Given the description of an element on the screen output the (x, y) to click on. 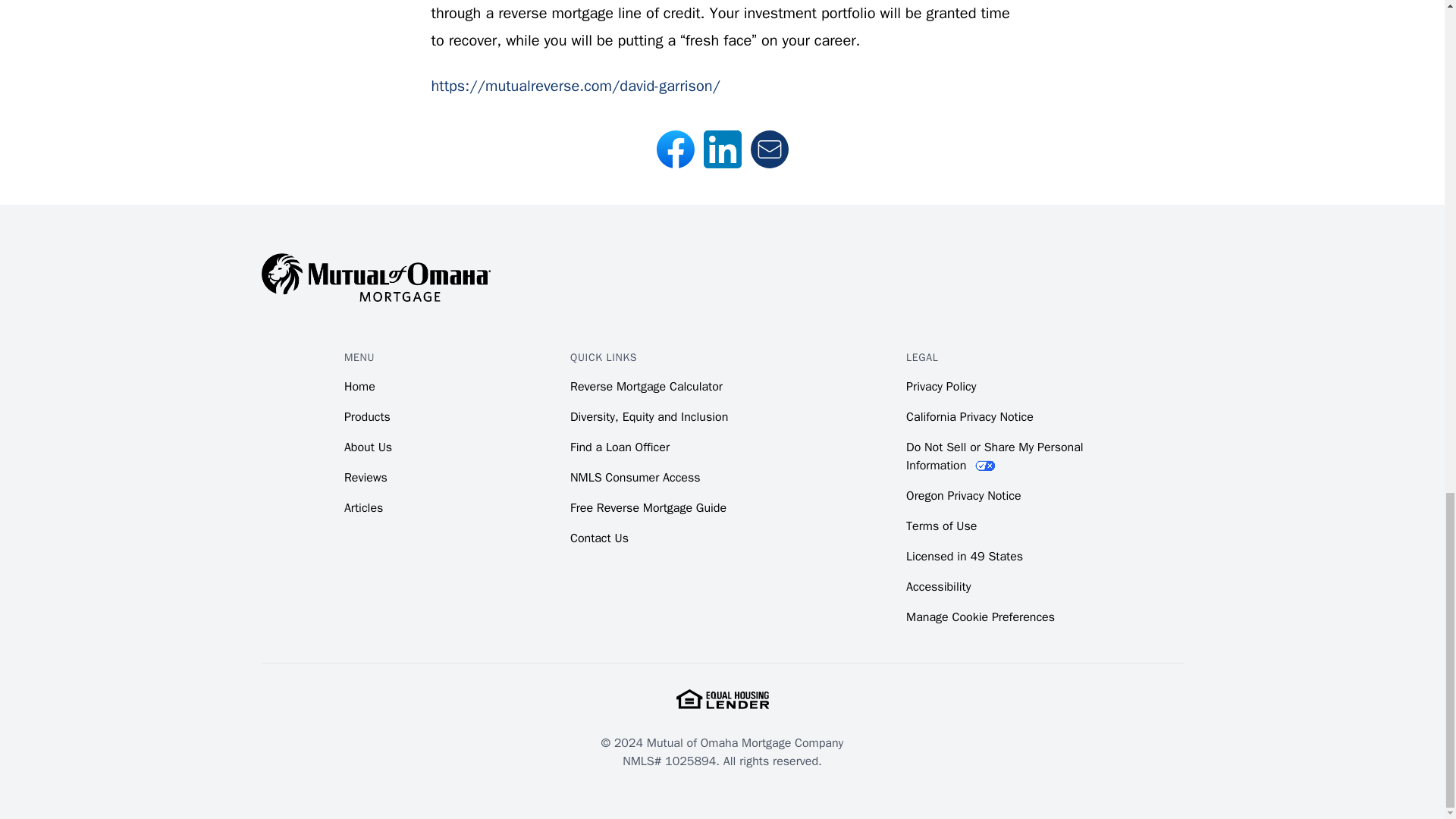
California Privacy Notice (969, 417)
Free Reverse Mortgage Guide (648, 507)
Licensed in 49 States (964, 556)
Find a Loan Officer (619, 447)
Oregon Privacy Notice (962, 495)
Privacy Policy (940, 386)
NMLS Consumer Access (635, 477)
Articles (362, 507)
Products (366, 417)
Reviews (365, 477)
Terms of Use (940, 525)
Reverse Mortgage Calculator (646, 386)
Do Not Sell or Share My Personal Information (994, 456)
Home (359, 386)
Contact Us (599, 538)
